Given the description of an element on the screen output the (x, y) to click on. 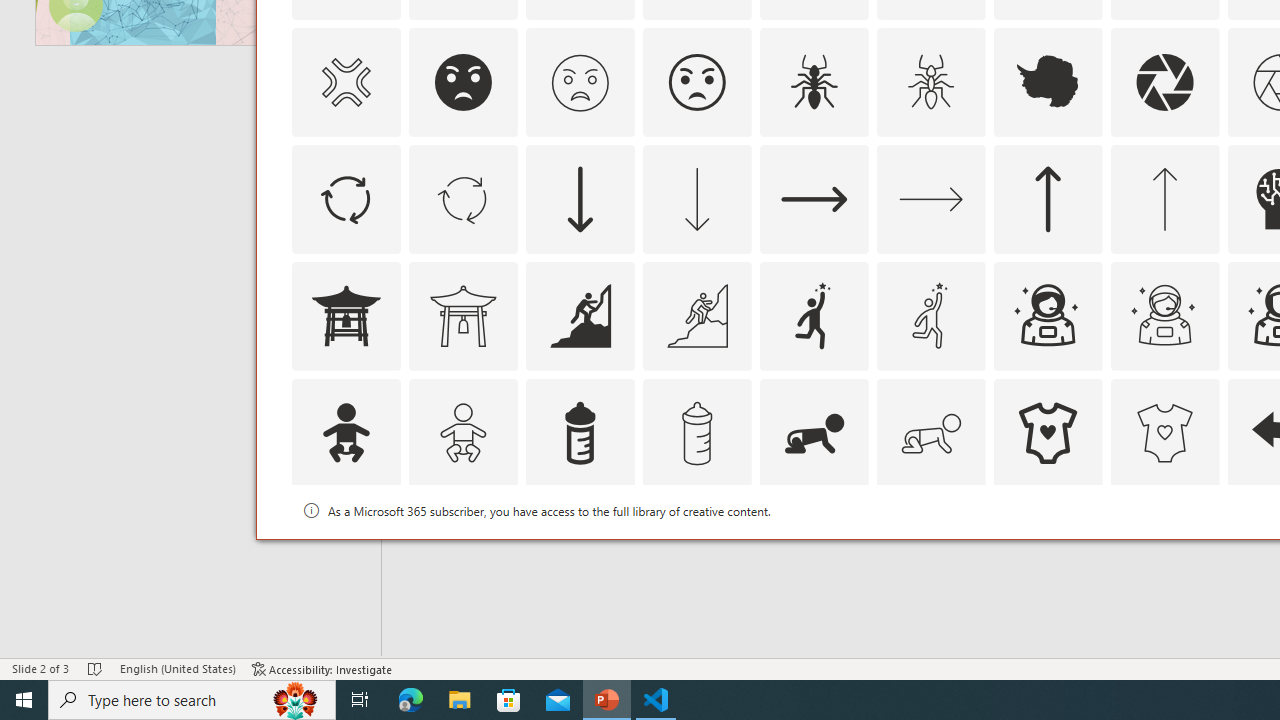
AutomationID: Icons_BabyOnesie (1048, 432)
AutomationID: Icons_AstronautFemale_M (1164, 316)
AutomationID: Icons_BabyCrawling (813, 432)
AutomationID: Icons_ArrowUp (1048, 198)
AutomationID: Icons_BabyBottle (579, 432)
AutomationID: Icons_Aspiration1_M (930, 316)
